Given the description of an element on the screen output the (x, y) to click on. 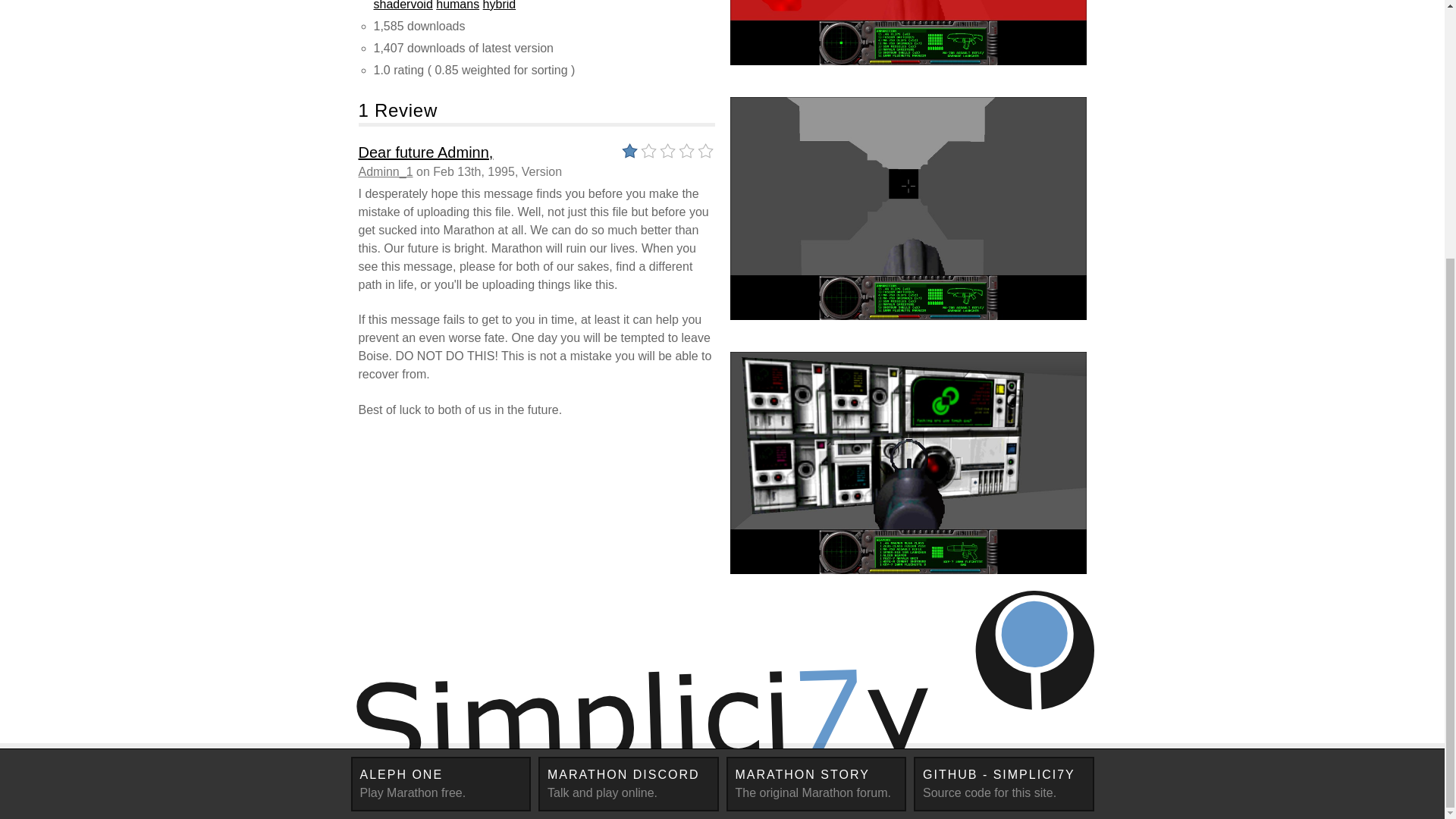
Dear future Adminn, (425, 152)
shadervoid (816, 783)
hybrid (1004, 783)
humans (402, 5)
